Given the description of an element on the screen output the (x, y) to click on. 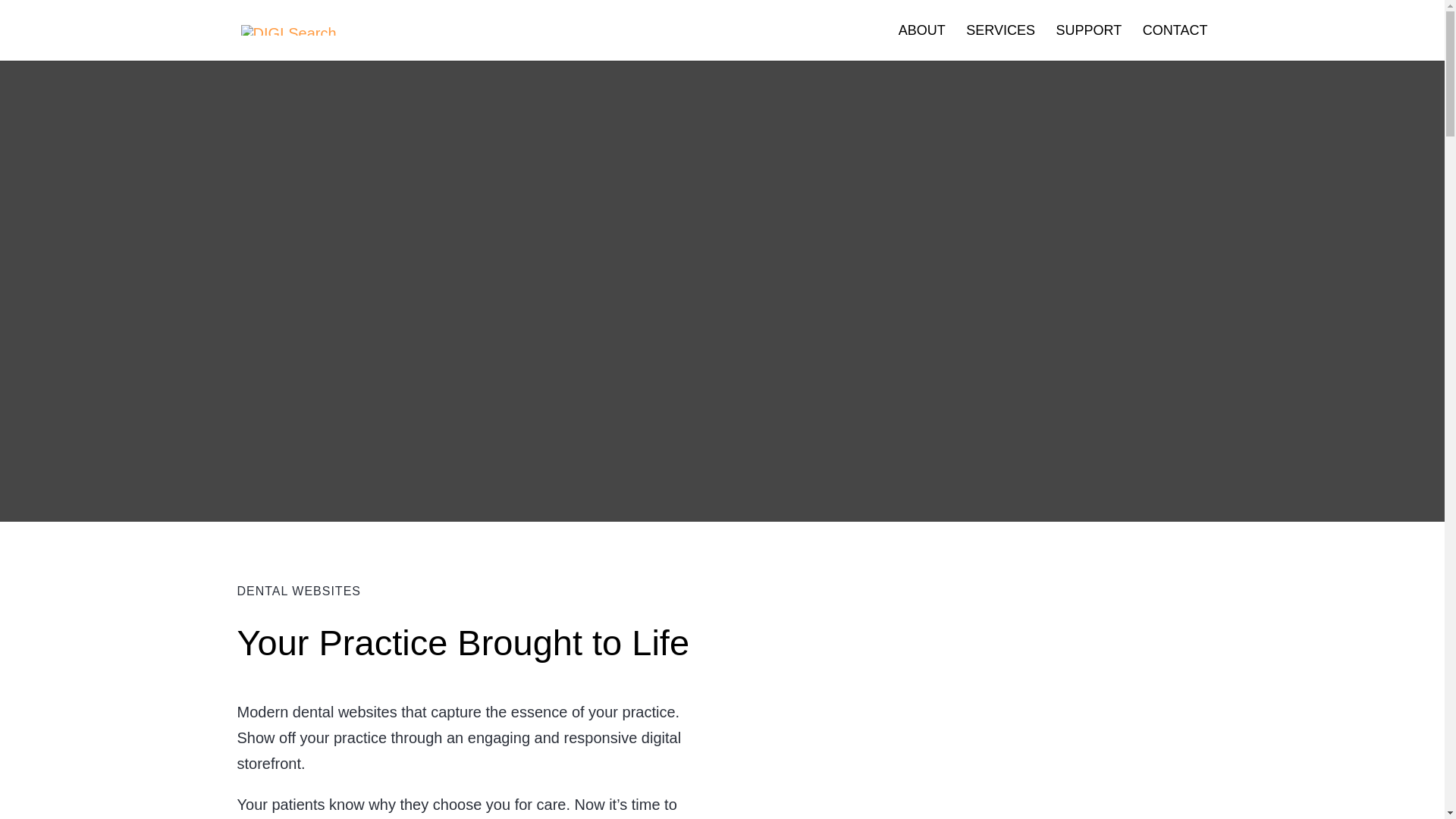
ABOUT (921, 42)
CONTACT (1175, 42)
SERVICES (1000, 42)
SUPPORT (1089, 42)
